Given the description of an element on the screen output the (x, y) to click on. 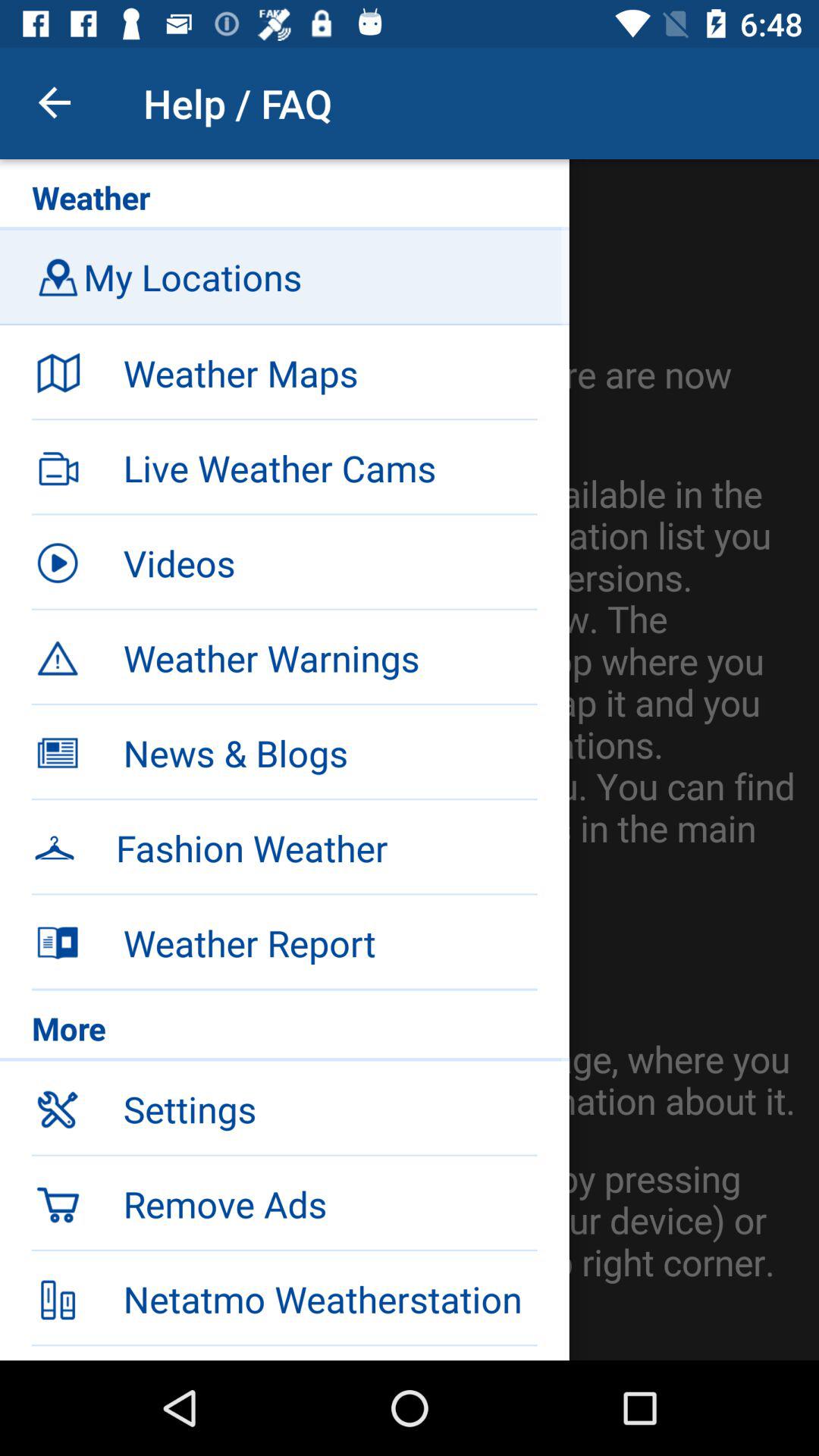
tap icon below the settings (330, 1203)
